Given the description of an element on the screen output the (x, y) to click on. 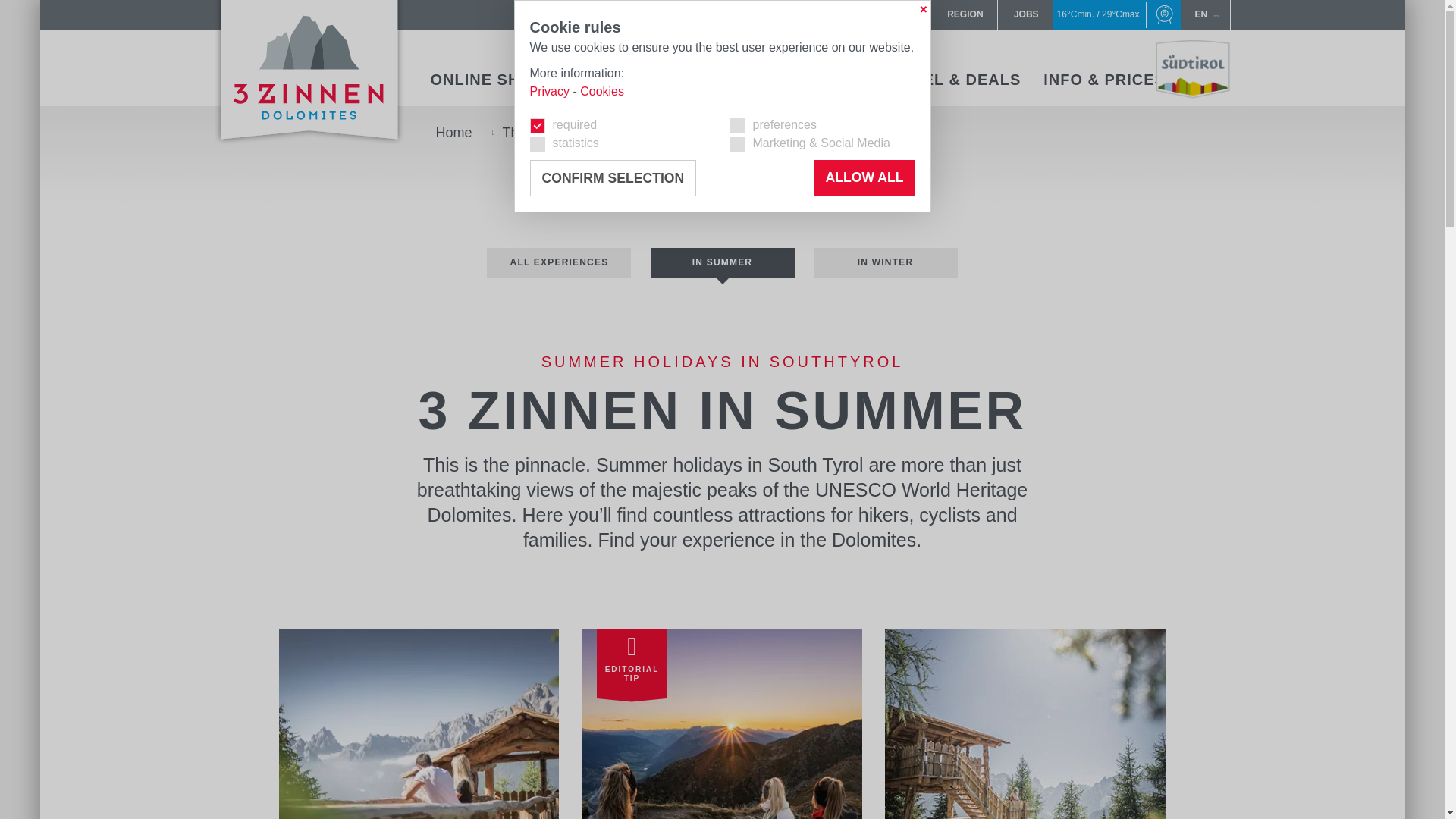
THE MOUNTAINS (633, 79)
ONLINE SHOP (486, 79)
THE EXPERIENCE (794, 79)
